Given the description of an element on the screen output the (x, y) to click on. 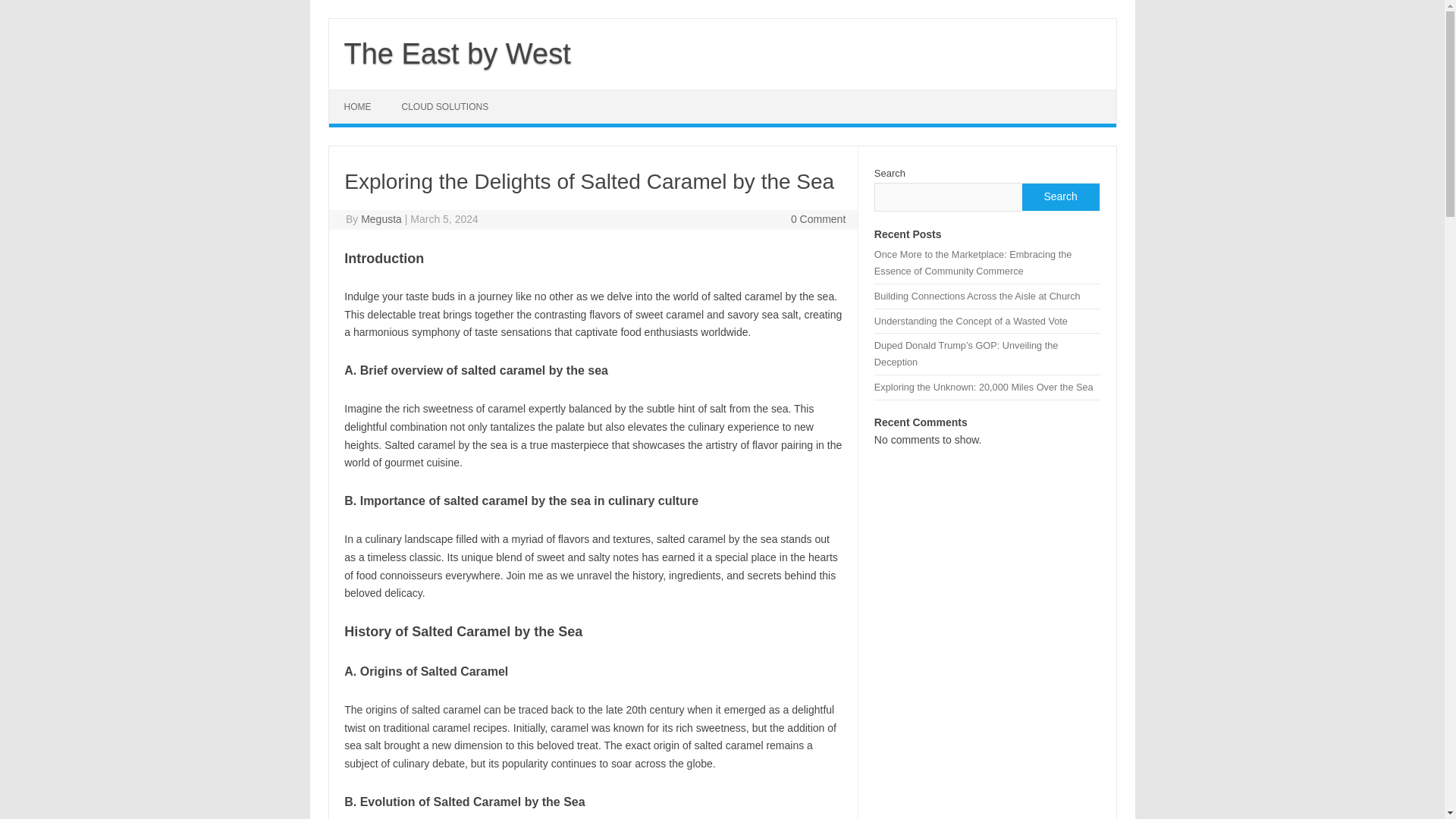
The East by West (456, 53)
HOME (358, 106)
Search (1059, 196)
Megusta (381, 218)
The East by West (456, 53)
Exploring the Unknown: 20,000 Miles Over the Sea (984, 387)
Understanding the Concept of a Wasted Vote (971, 320)
